Given the description of an element on the screen output the (x, y) to click on. 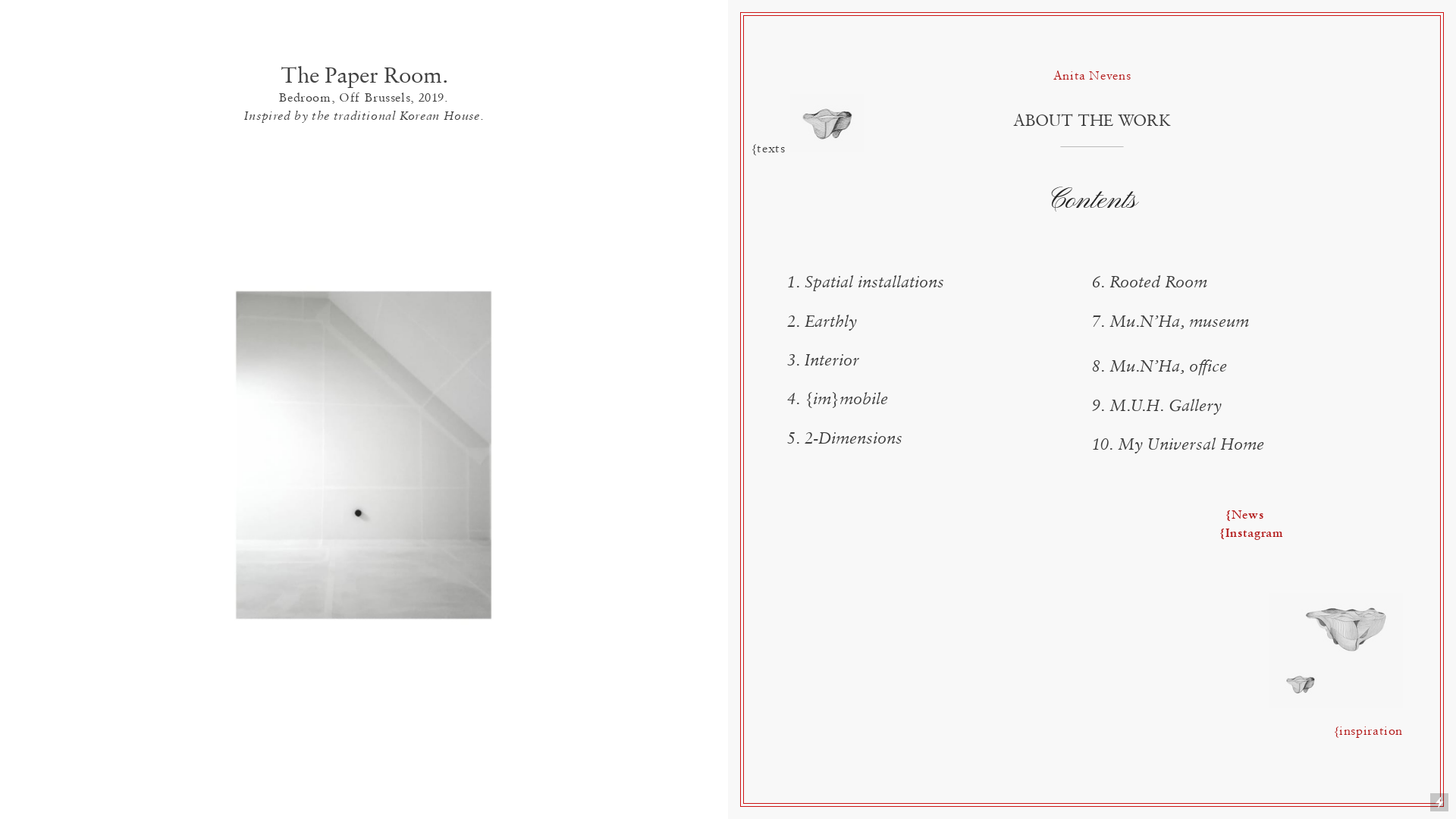
3. Interior Element type: text (823, 359)
9. M.U.H. Gallery Element type: text (1156, 405)
Contents Element type: text (1091, 202)
Earthly Element type: text (830, 321)
Anita Nevens Element type: text (1091, 75)
6. Rooted Room Element type: text (1149, 281)
2. Element type: text (795, 321)
10. My Universal Home Element type: text (1178, 444)
installations Element type: text (900, 281)
1. Spatial Element type: text (820, 281)
ABOUT THE WORK Element type: text (1091, 120)
5. 2-Dimensions Element type: text (844, 437)
